Given the description of an element on the screen output the (x, y) to click on. 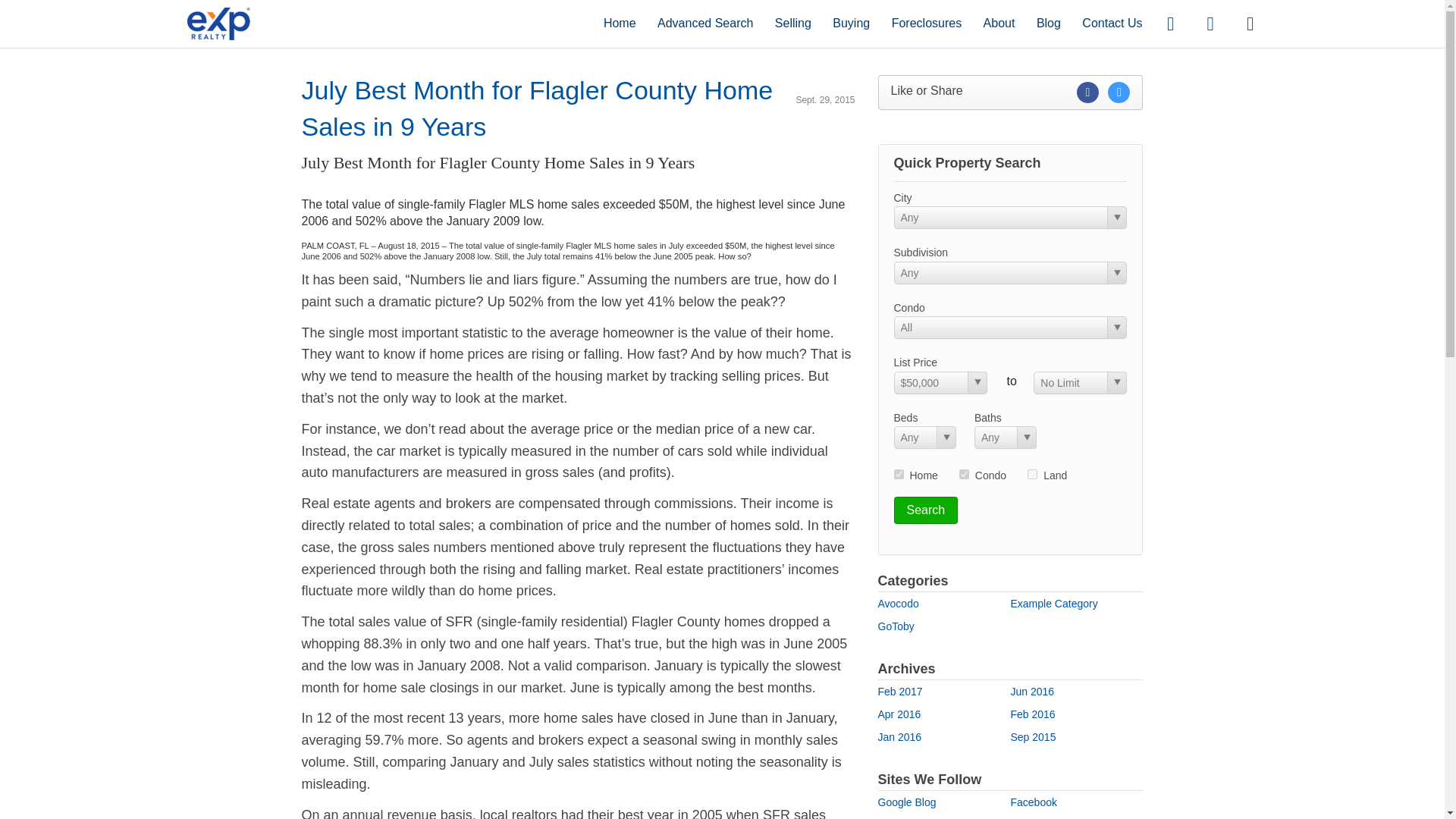
GoToby (895, 625)
lnd (1031, 474)
Selling (792, 22)
Apr 2016 (899, 714)
Home (620, 22)
Search (925, 510)
Foreclosures (925, 22)
Buying (850, 22)
Sep 2015 (1032, 736)
Facebook (1033, 802)
